Given the description of an element on the screen output the (x, y) to click on. 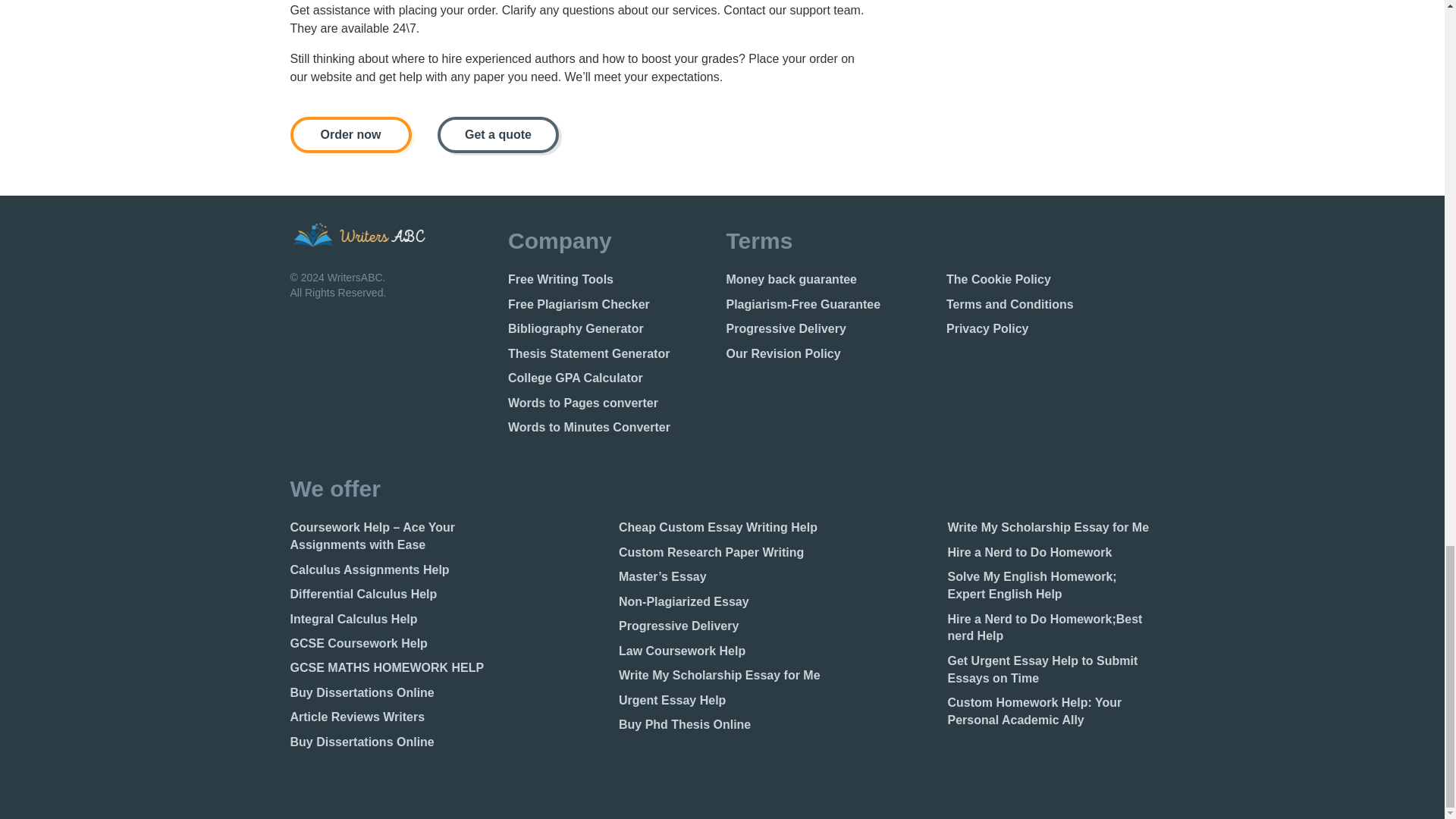
GCSE Coursework Help (392, 643)
Differential Calculus Help (392, 594)
Words to Minutes Converter (611, 427)
Plagiarism-Free Guarantee (830, 304)
Progressive Delivery (830, 329)
Privacy Policy (1050, 329)
Our Revision Policy (830, 354)
Terms and Conditions (1050, 304)
Bibliography Generator (611, 329)
Thesis Statement Generator (611, 354)
Calculus Assignments Help (392, 570)
Free Plagiarism Checker (611, 304)
Words to Pages converter (611, 403)
GCSE MATHS HOMEWORK HELP (392, 668)
Order now (349, 135)
